Given the description of an element on the screen output the (x, y) to click on. 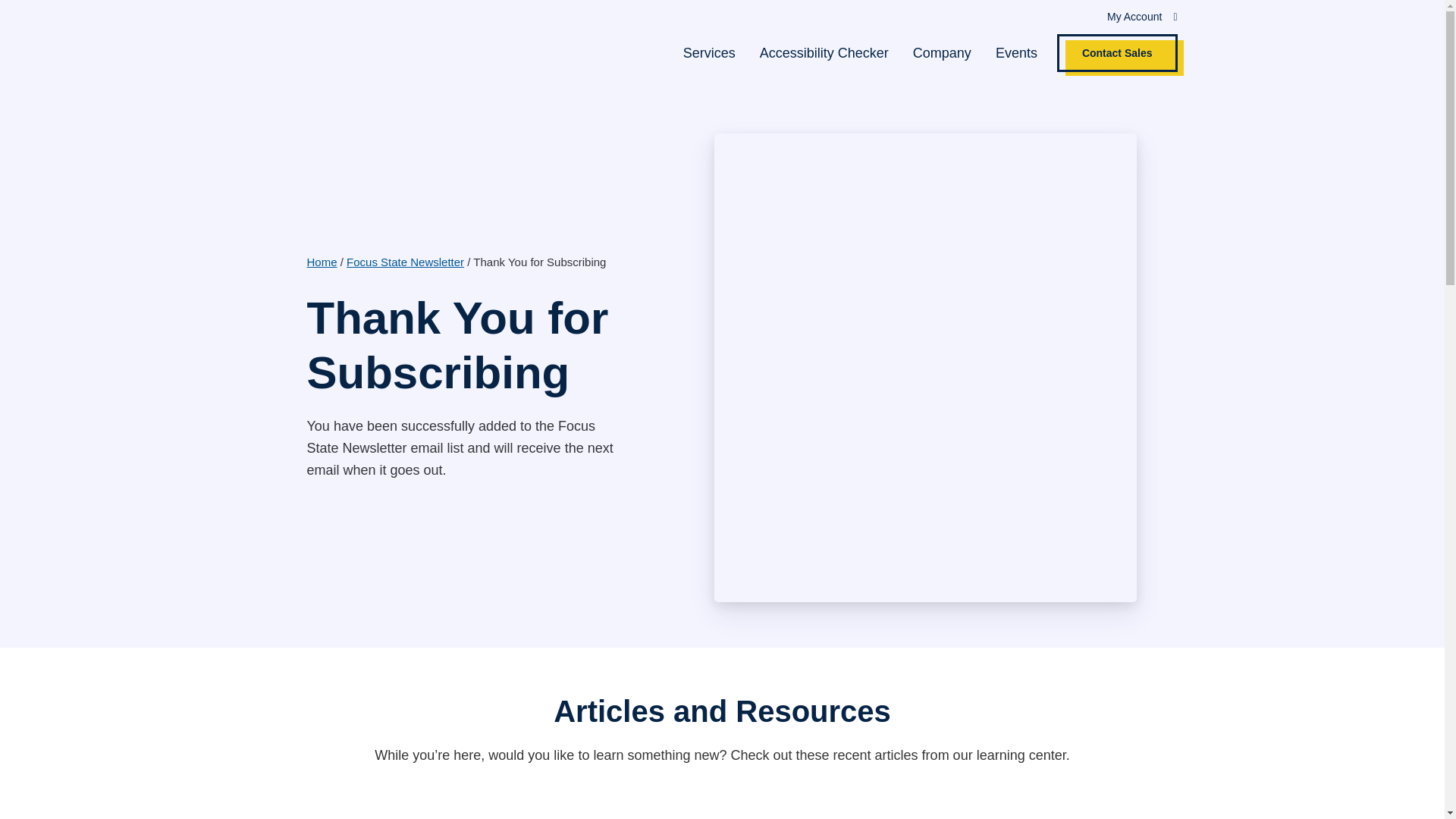
Focus State Newsletter (405, 261)
My Account (1134, 16)
Accessibility Checker (824, 52)
Home (320, 261)
Contact Sales (1117, 53)
Company (941, 52)
Services (708, 52)
Events (1016, 52)
